Given the description of an element on the screen output the (x, y) to click on. 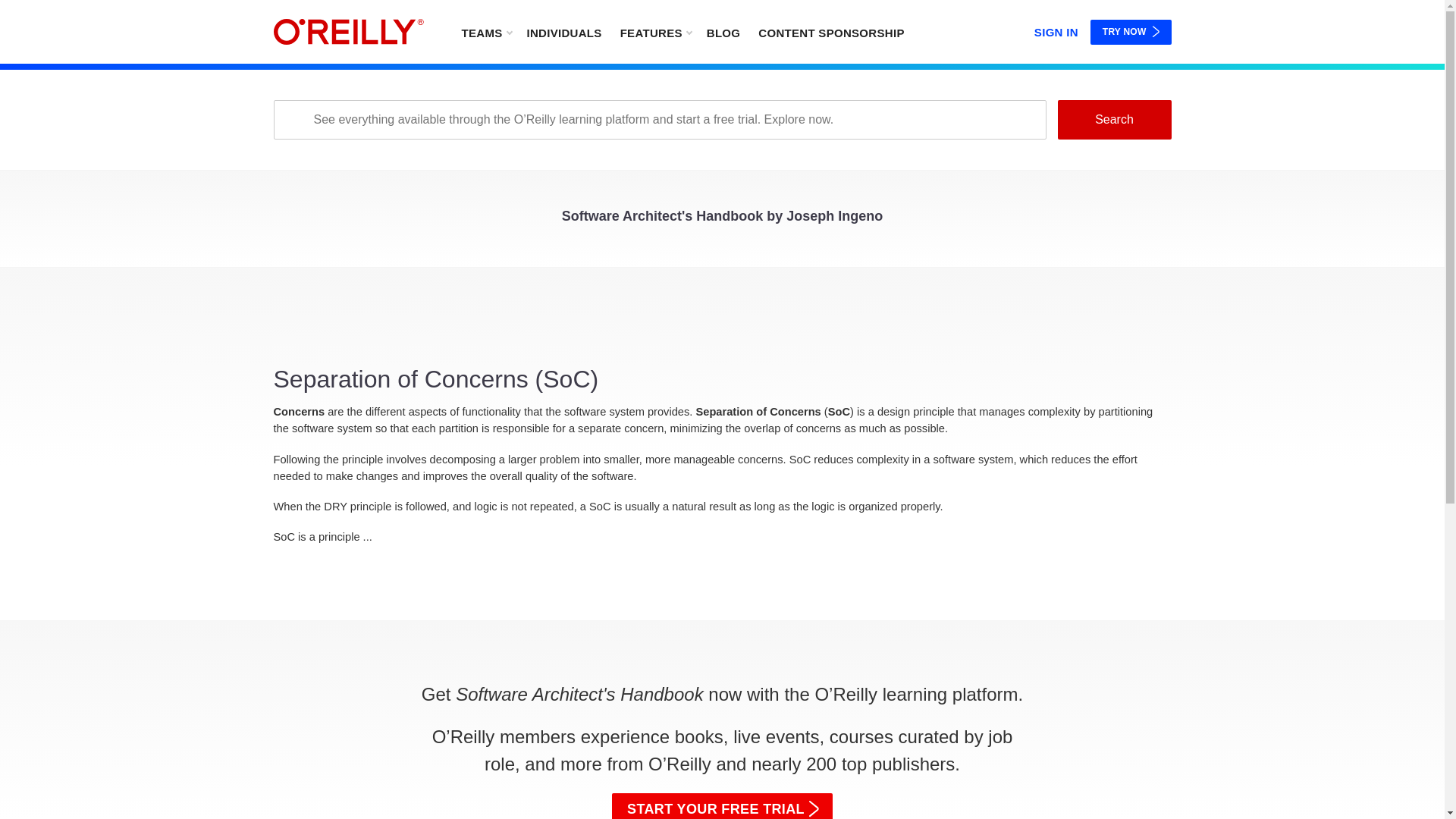
BLOG (723, 31)
Software Architect's Handbook by Joseph Ingeno (722, 219)
home page (348, 31)
TEAMS (486, 31)
INDIVIDUALS (563, 31)
CONTENT SPONSORSHIP (831, 31)
Search (1113, 119)
FEATURES (655, 31)
SIGN IN (1055, 29)
TRY NOW (1131, 32)
